Given the description of an element on the screen output the (x, y) to click on. 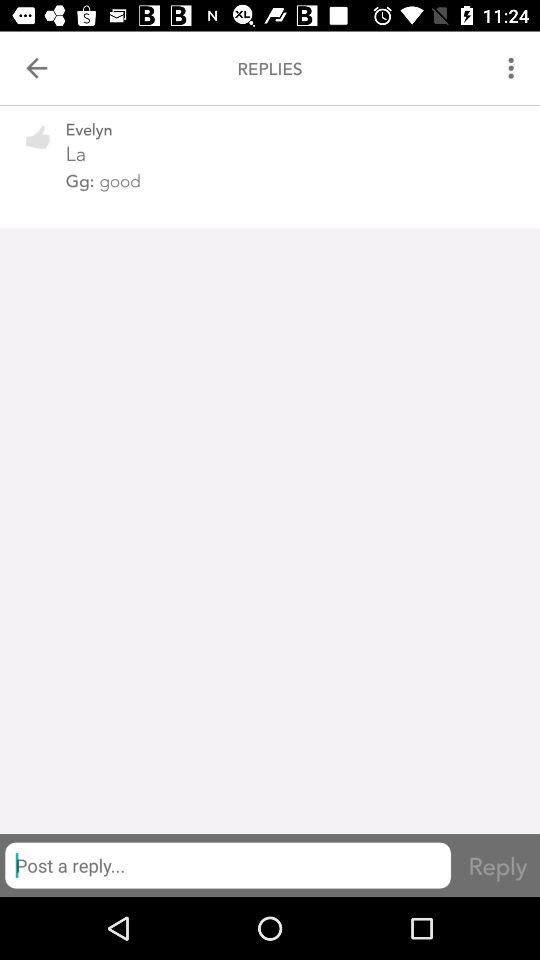
like button (37, 149)
